Given the description of an element on the screen output the (x, y) to click on. 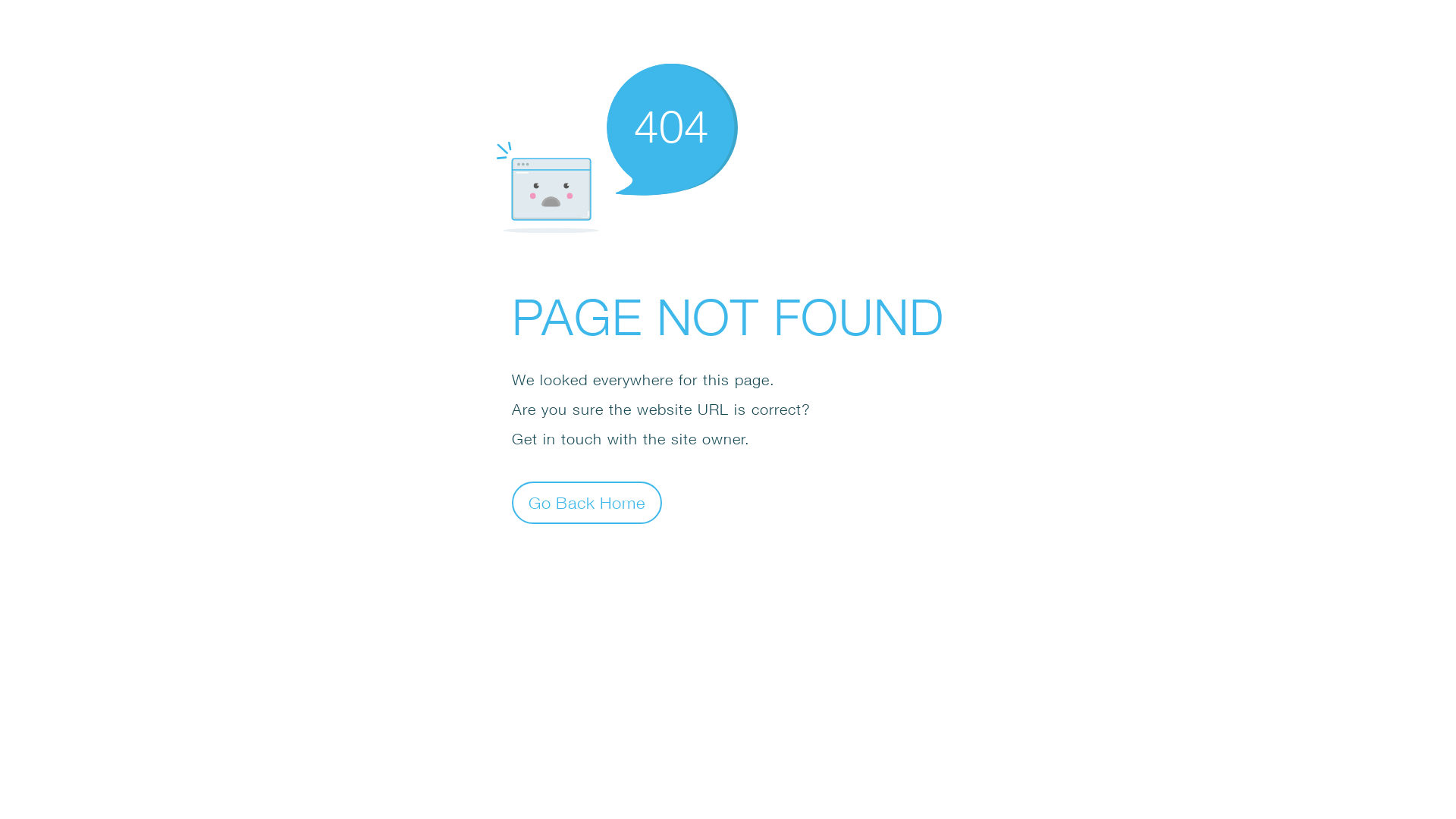
Go Back Home Element type: text (586, 502)
